Given the description of an element on the screen output the (x, y) to click on. 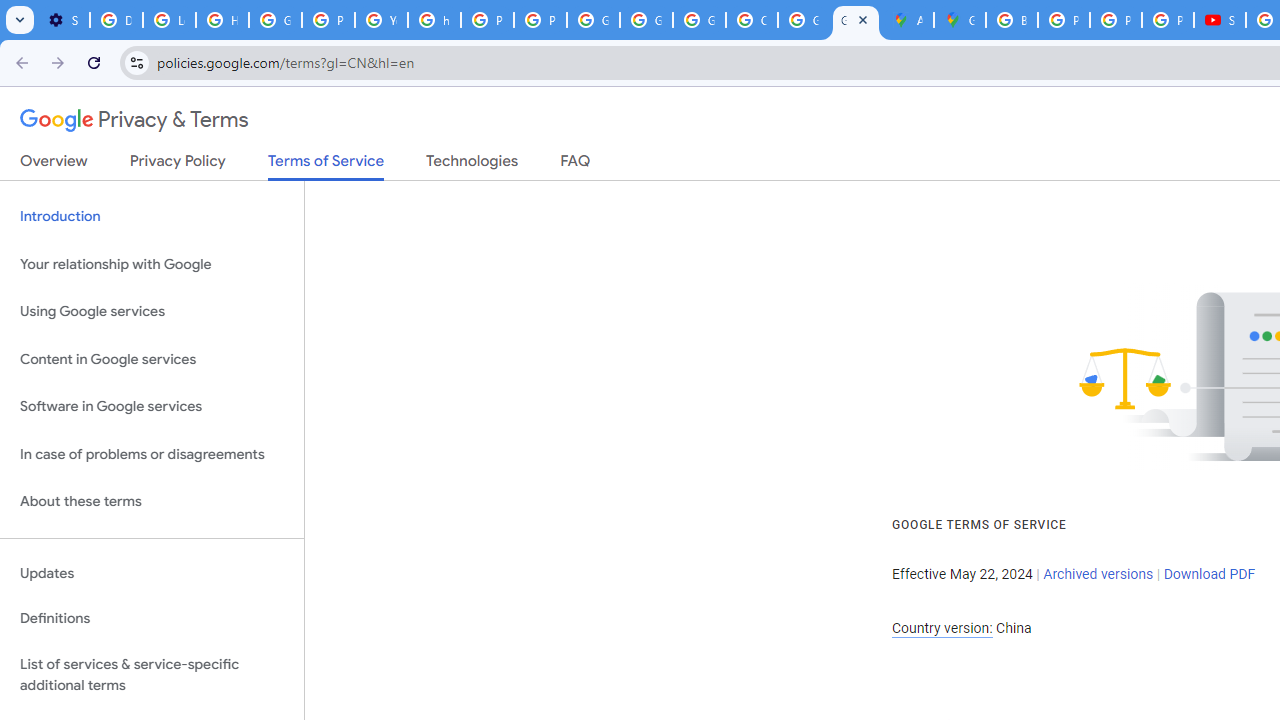
Definitions (152, 619)
Google Maps (959, 20)
FAQ (575, 165)
In case of problems or disagreements (152, 453)
About these terms (152, 502)
Introduction (152, 216)
Subscriptions - YouTube (1219, 20)
Content in Google services (152, 358)
Privacy Help Center - Policies Help (1064, 20)
Privacy Help Center - Policies Help (1115, 20)
